Given the description of an element on the screen output the (x, y) to click on. 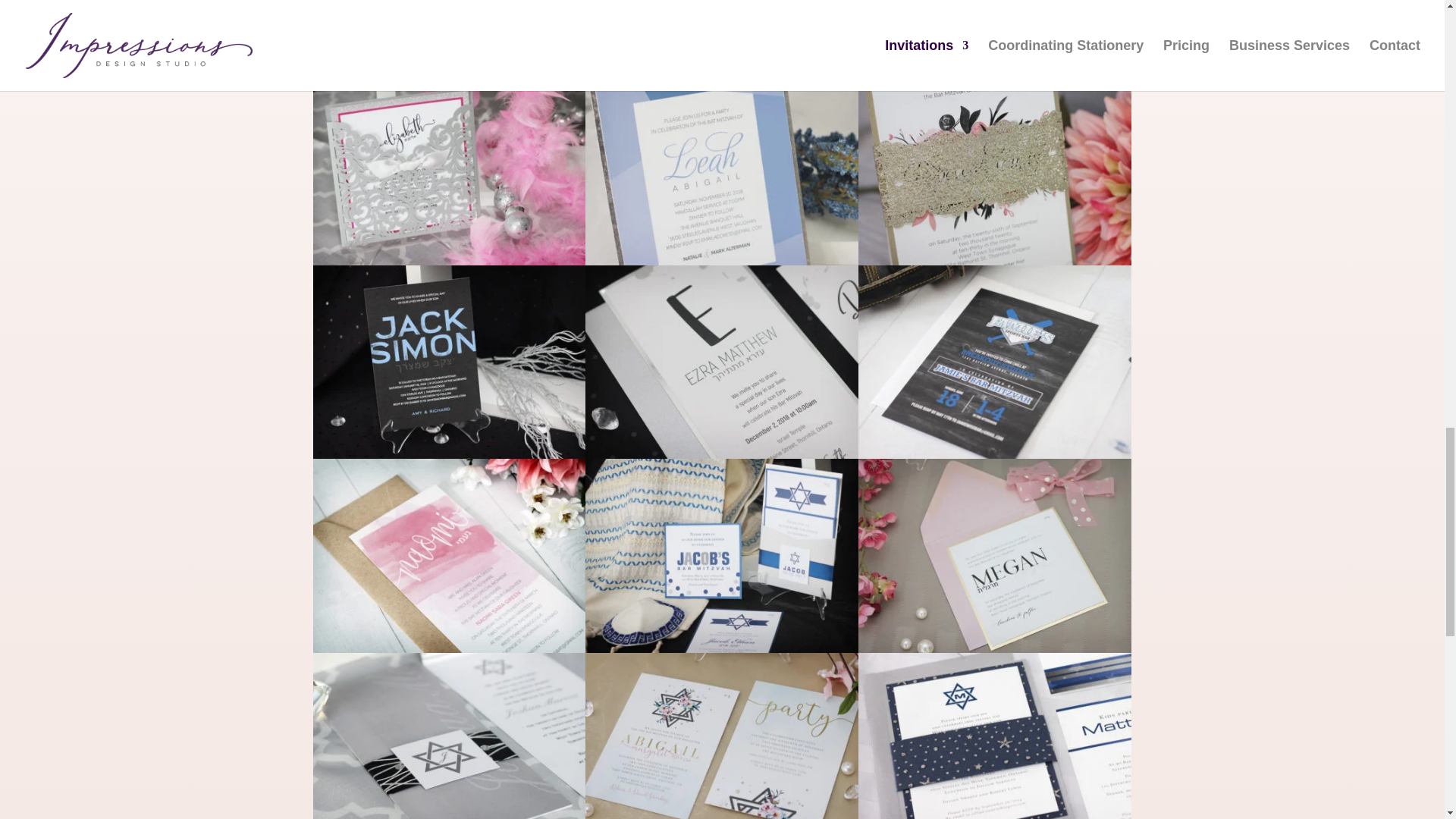
Laser Cut Glitter Bat Mitzvah Invitation (449, 261)
Paint Splatter Bar Mitzvah Invitation (722, 454)
Gruge Bar Mitzvah Invitation (449, 454)
Silver Square Modern Bar Mitzvah Invitation (722, 67)
Laser Cut Glitter Bat Mitzvah Invitation (995, 67)
Winter Glitter Bat Mitzvah Invitation (449, 67)
Gold Glitter Bat Mitzvah Invitation (995, 261)
Sophisticated Bat Mitzvah Invitation (722, 261)
